Given the description of an element on the screen output the (x, y) to click on. 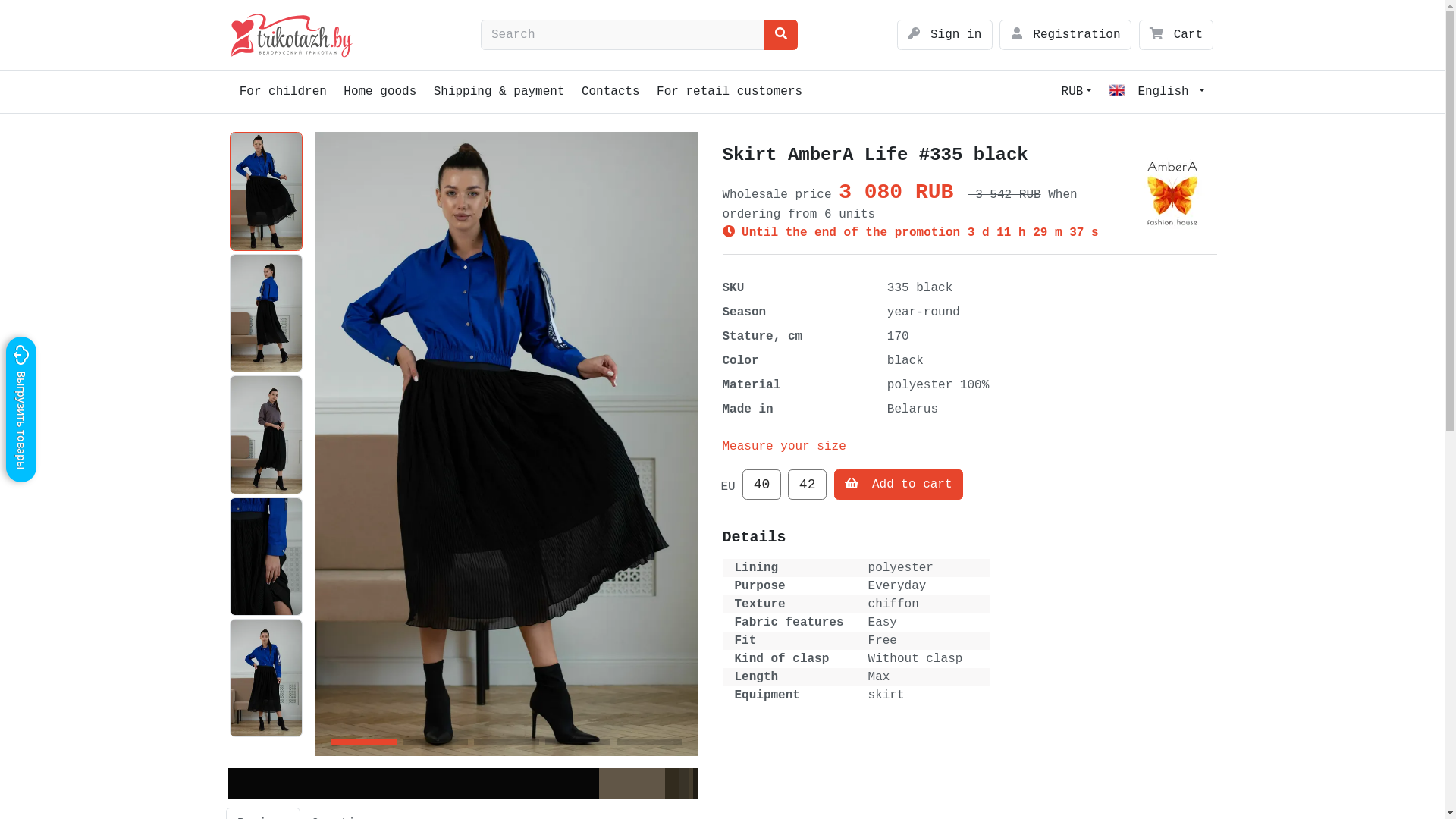
Registration Element type: text (1065, 34)
RUB Element type: text (1076, 91)
Sign in Element type: text (944, 34)
Add to cart Element type: text (898, 484)
40 Element type: text (761, 484)
Color #322b1e Element type: hover (672, 783)
For children Element type: text (282, 91)
Color #211d15 Element type: hover (695, 783)
Shipping & payment Element type: text (498, 91)
Color #615647 Element type: hover (632, 783)
Color #070707 Element type: hover (413, 783)
Color #393328 Element type: hover (683, 783)
Home goods Element type: text (379, 91)
English Element type: text (1157, 91)
Color #453d2e Element type: hover (690, 783)
For retail customers Element type: text (729, 91)
Measure your size Element type: text (783, 446)
AmberA Life Element type: hover (1173, 193)
42 Element type: text (806, 484)
Contacts Element type: text (610, 91)
